Given the description of an element on the screen output the (x, y) to click on. 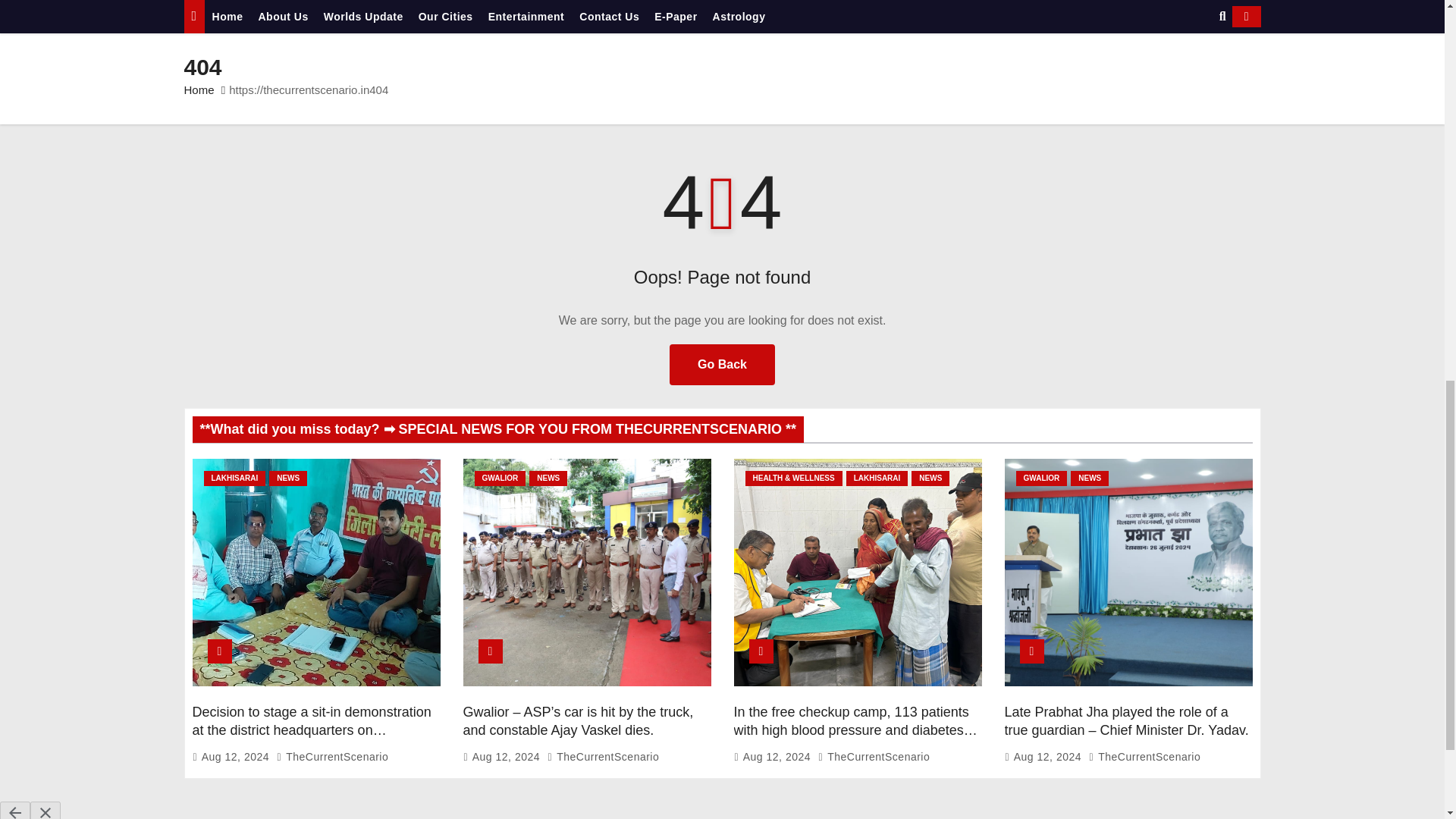
About Us (282, 17)
Home (227, 17)
Our Cities (445, 17)
Worlds Update (362, 17)
Home (227, 17)
Our Cities (445, 17)
Worlds Update (362, 17)
About Us (282, 17)
